Given the description of an element on the screen output the (x, y) to click on. 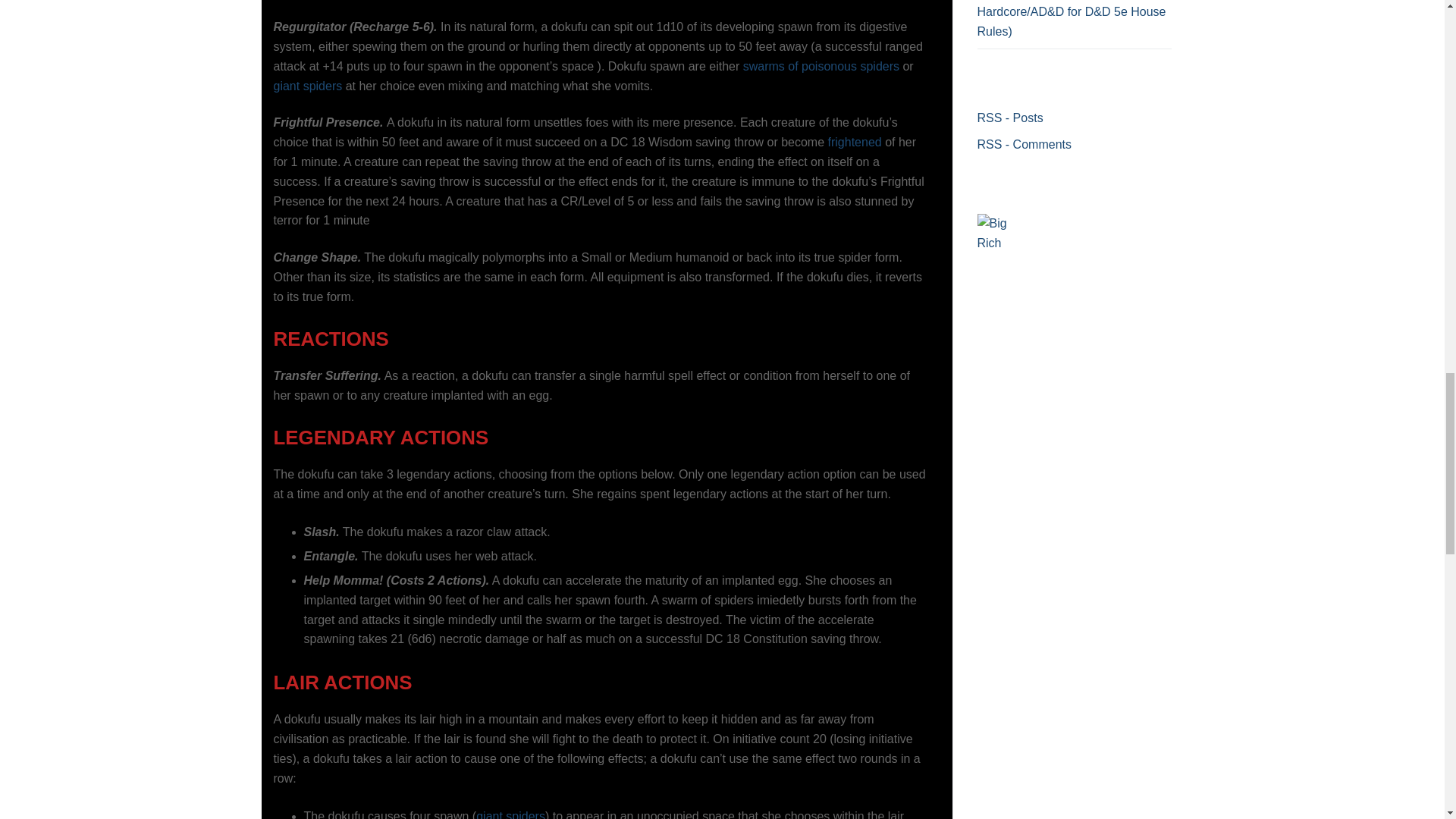
giant spiders (307, 85)
giant spiders (510, 814)
Page 153 (600, 339)
swarms of poisonous spiders (820, 65)
frightened (855, 141)
Page 153 (600, 47)
